Given the description of an element on the screen output the (x, y) to click on. 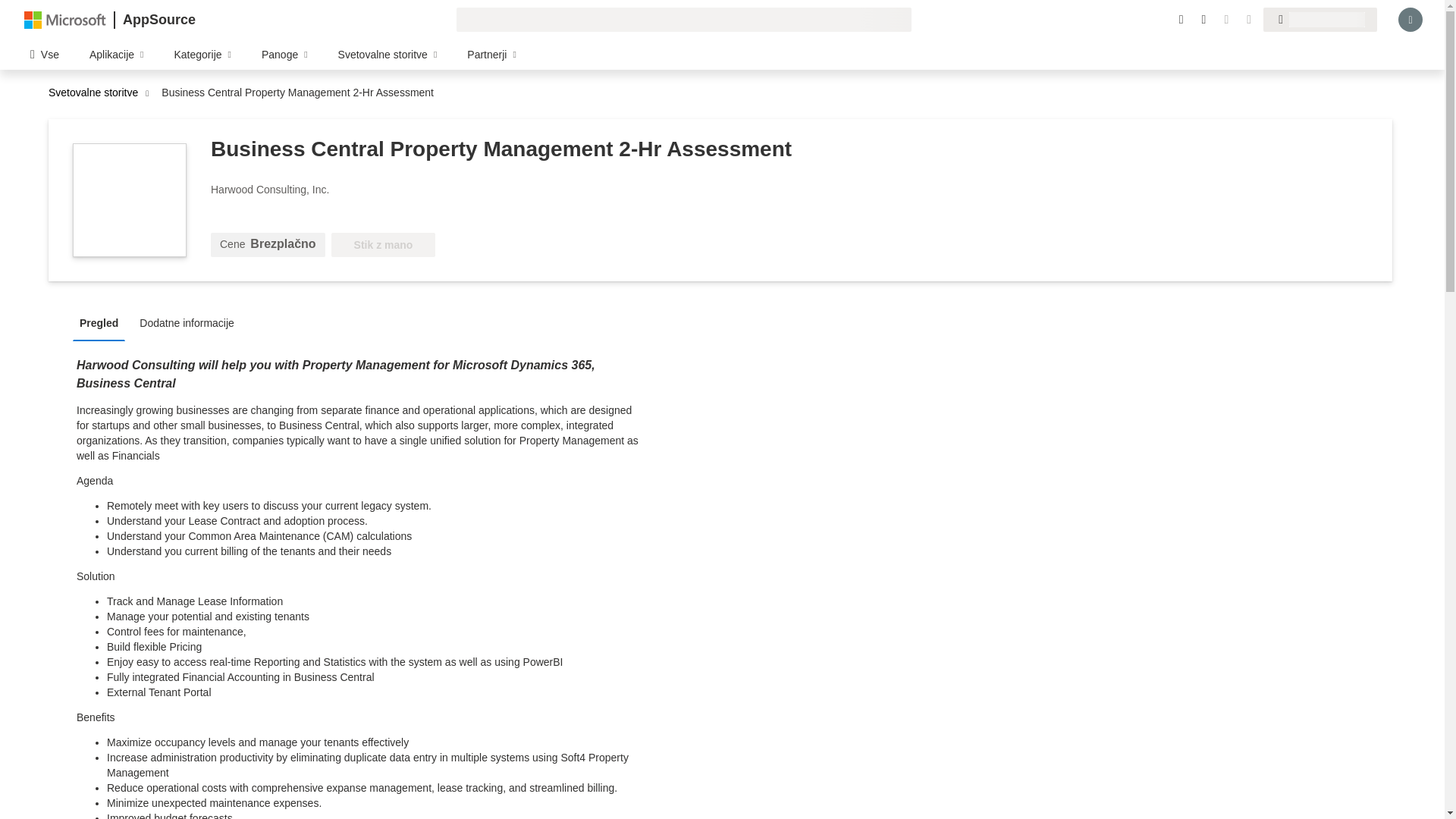
Dodatne informacije (190, 322)
Pregled (102, 322)
AppSource (158, 19)
Svetovalne storitve (96, 92)
Stik z mano (383, 244)
Microsoft (65, 18)
